Given the description of an element on the screen output the (x, y) to click on. 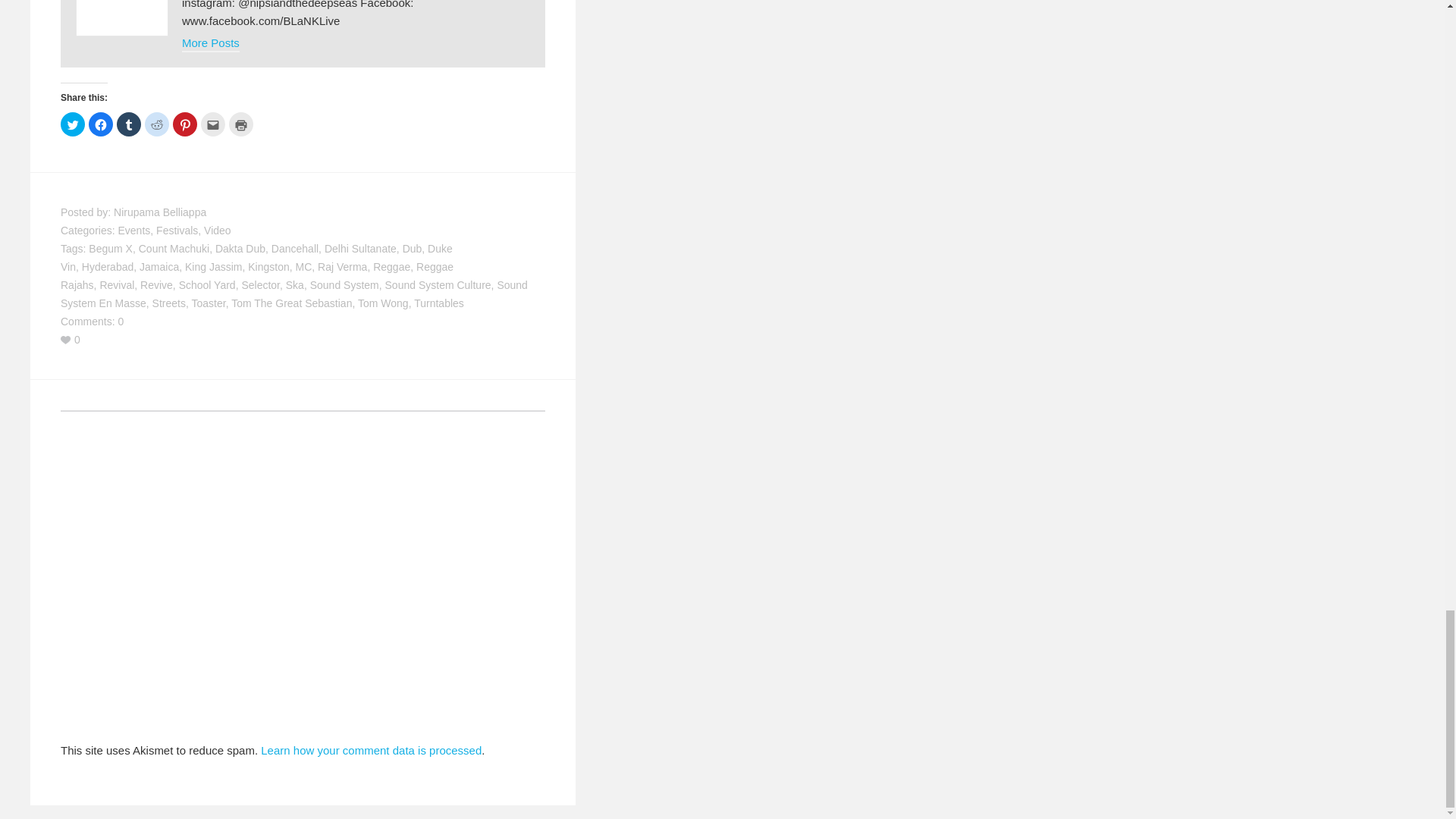
Click to share on Facebook (100, 124)
Click to share on Twitter (72, 124)
Click to print (240, 124)
Click to share on Pinterest (184, 124)
Click to email this to a friend (212, 124)
Click to share on Tumblr (128, 124)
Click to share on Reddit (156, 124)
More posts by Nirupama Belliappa (211, 44)
